Given the description of an element on the screen output the (x, y) to click on. 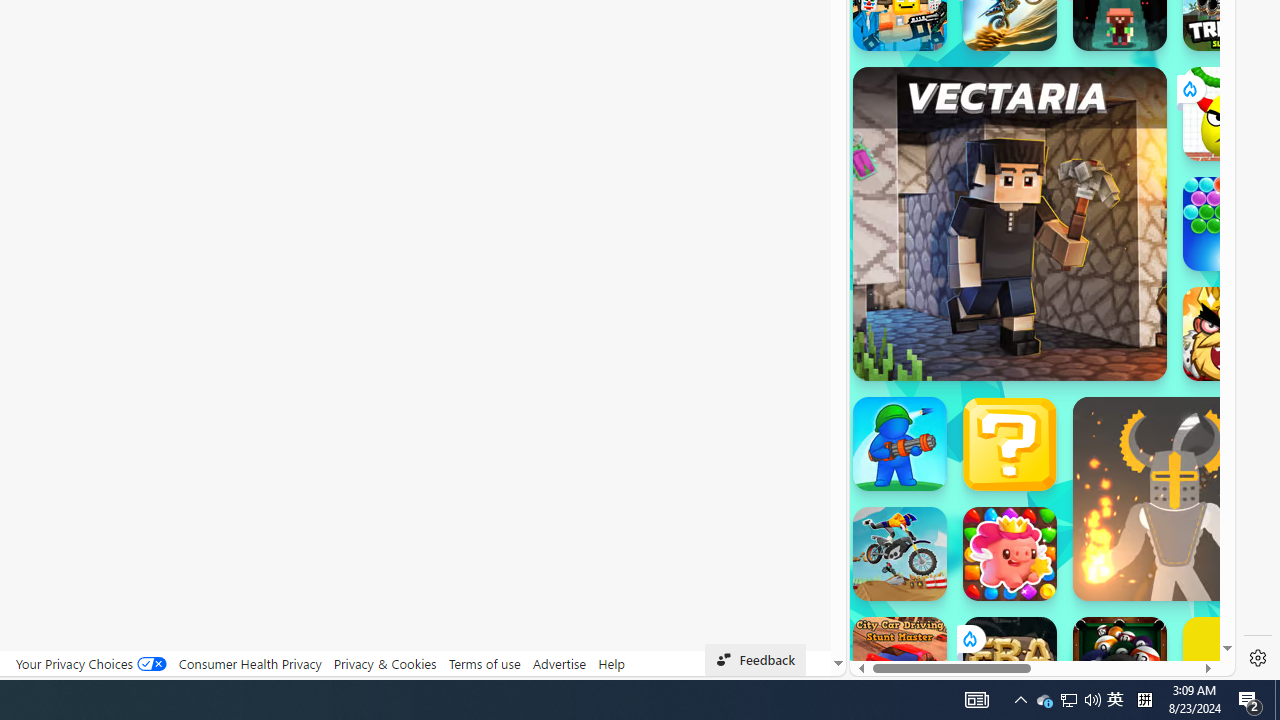
Combat Reloaded (1092, 300)
Like a King Like a King (1229, 333)
8 Ball Pool With Buddies (1119, 664)
Draw To Smash: Logic Puzzle Draw To Smash: Logic Puzzle (1229, 113)
Privacy & Cookies (384, 663)
Terms of use (484, 663)
Click to scroll right (1196, 247)
